Given the description of an element on the screen output the (x, y) to click on. 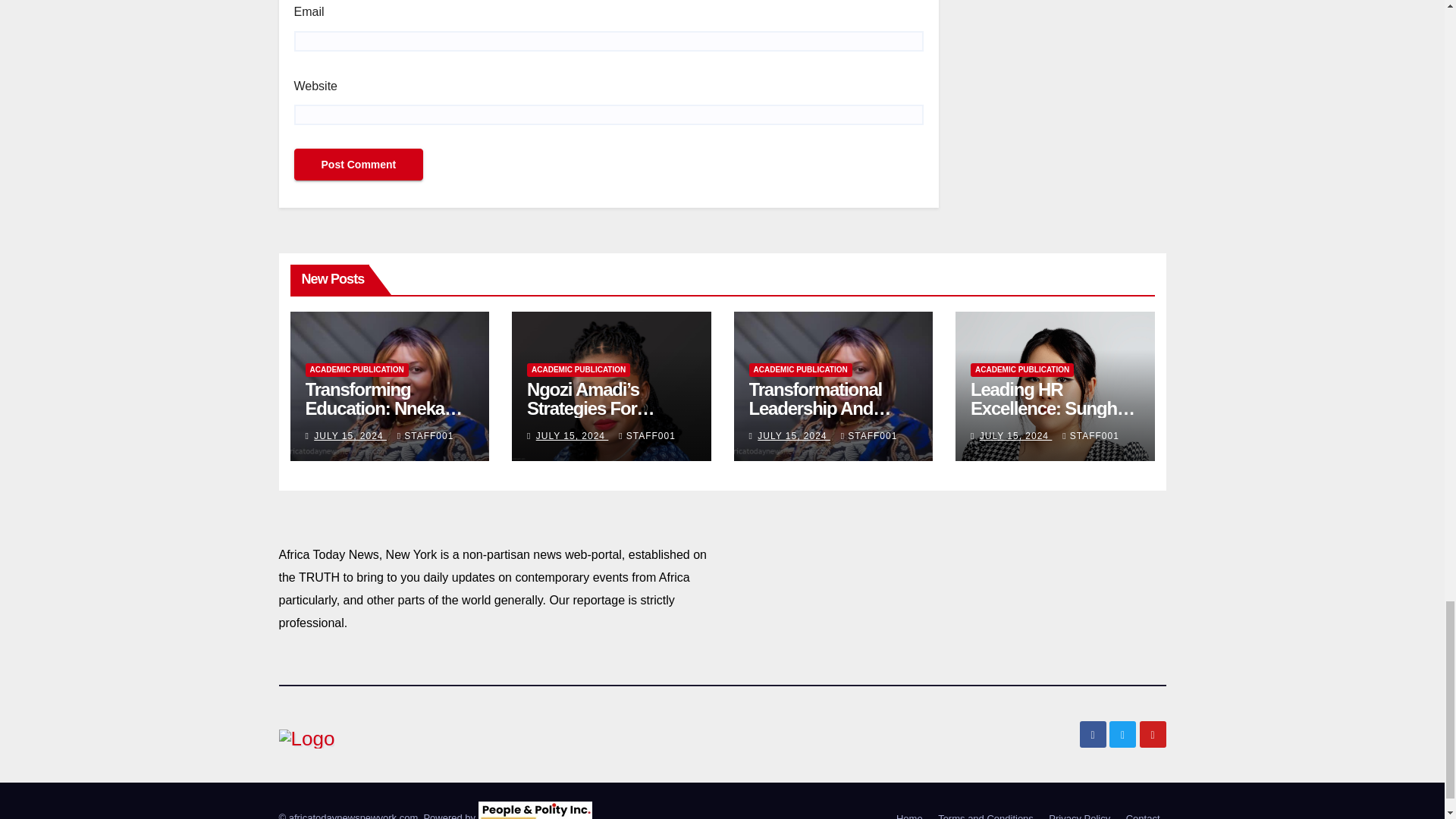
Post Comment (358, 164)
